Given the description of an element on the screen output the (x, y) to click on. 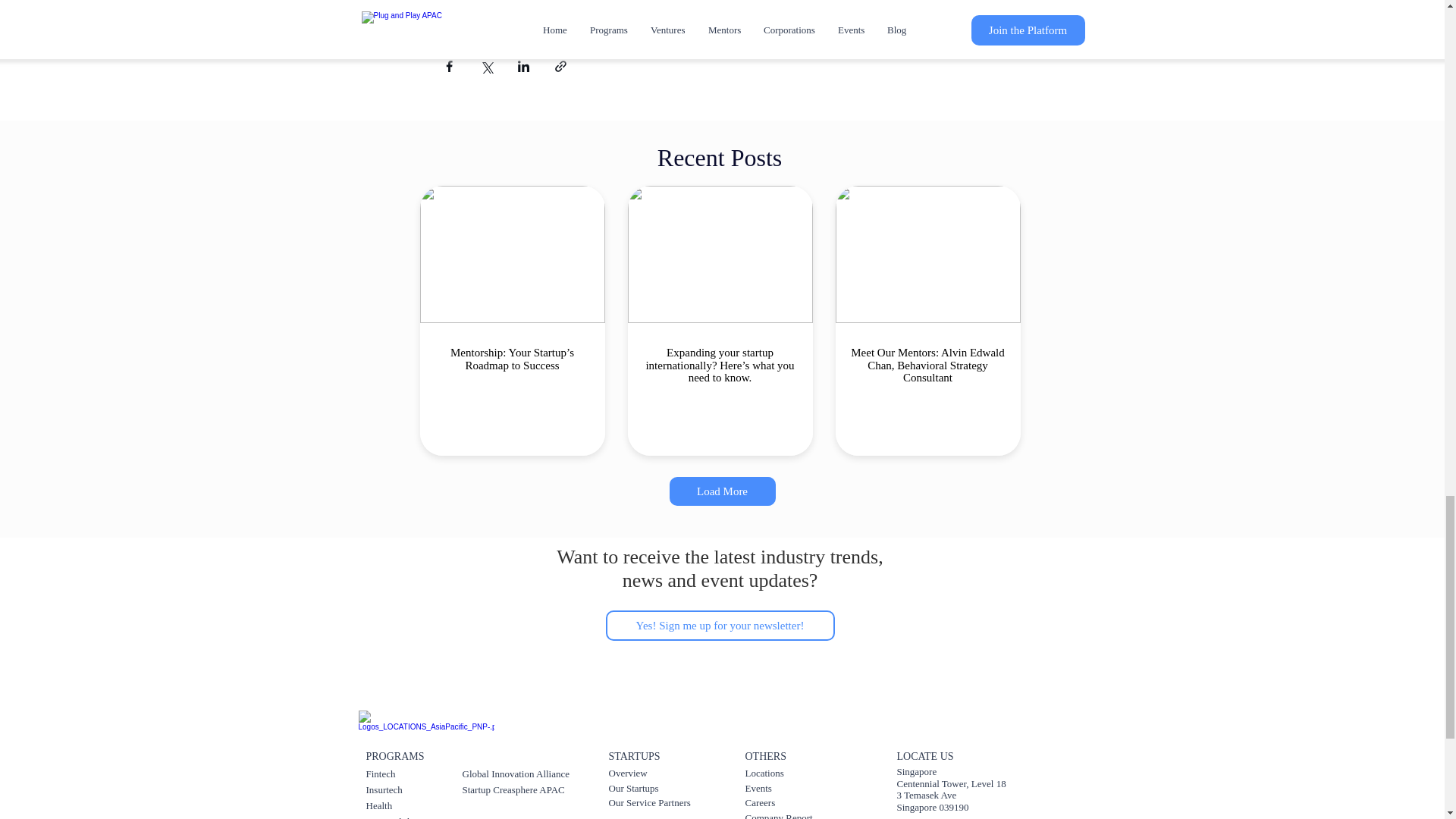
Load More (721, 491)
PROGRAMS (394, 756)
Fintech (379, 773)
Insurtech (383, 789)
here (676, 1)
Yes! Sign me up for your newsletter! (719, 625)
Health (378, 805)
